Given the description of an element on the screen output the (x, y) to click on. 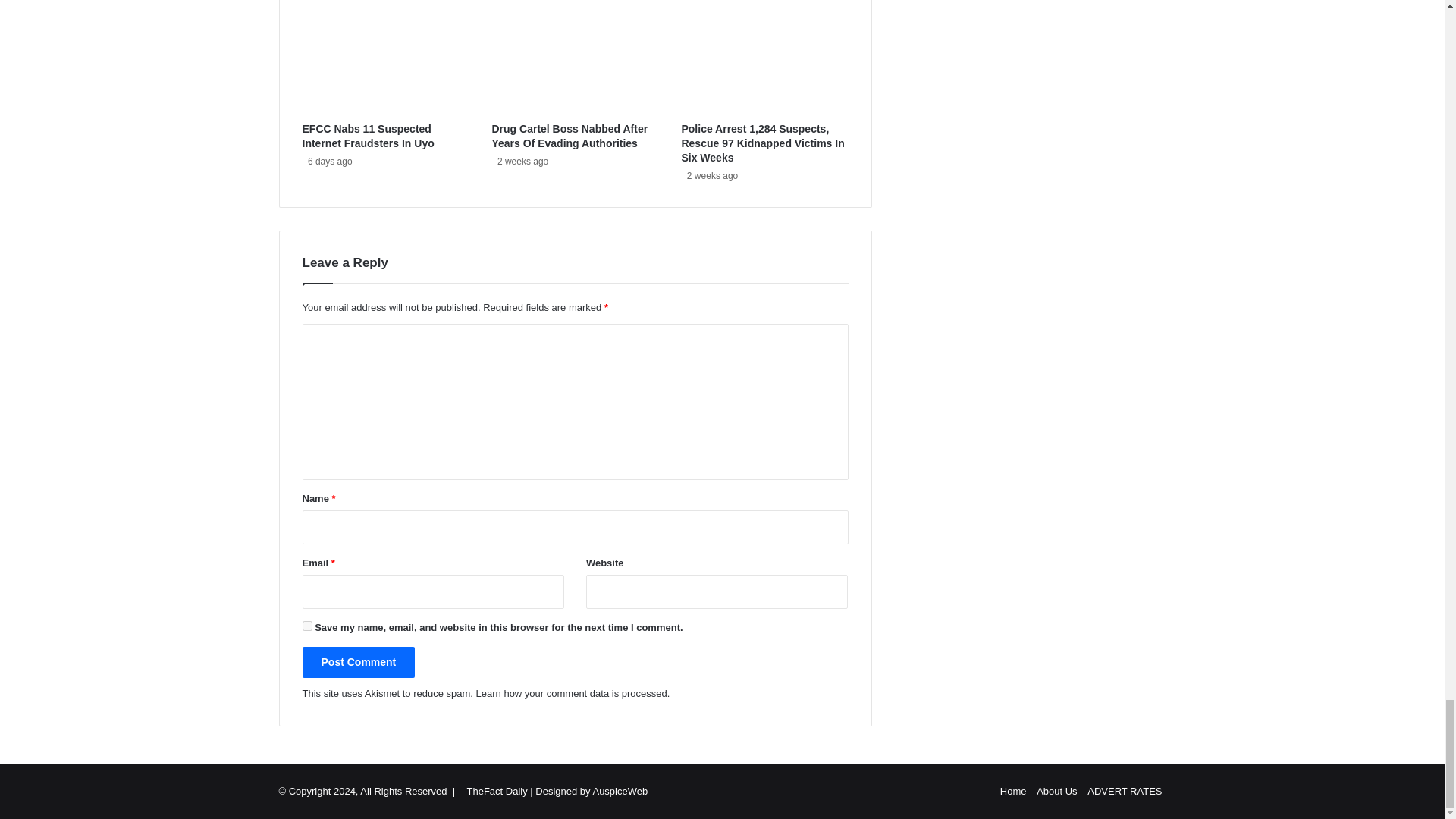
yes (306, 625)
Post Comment (357, 662)
